Given the description of an element on the screen output the (x, y) to click on. 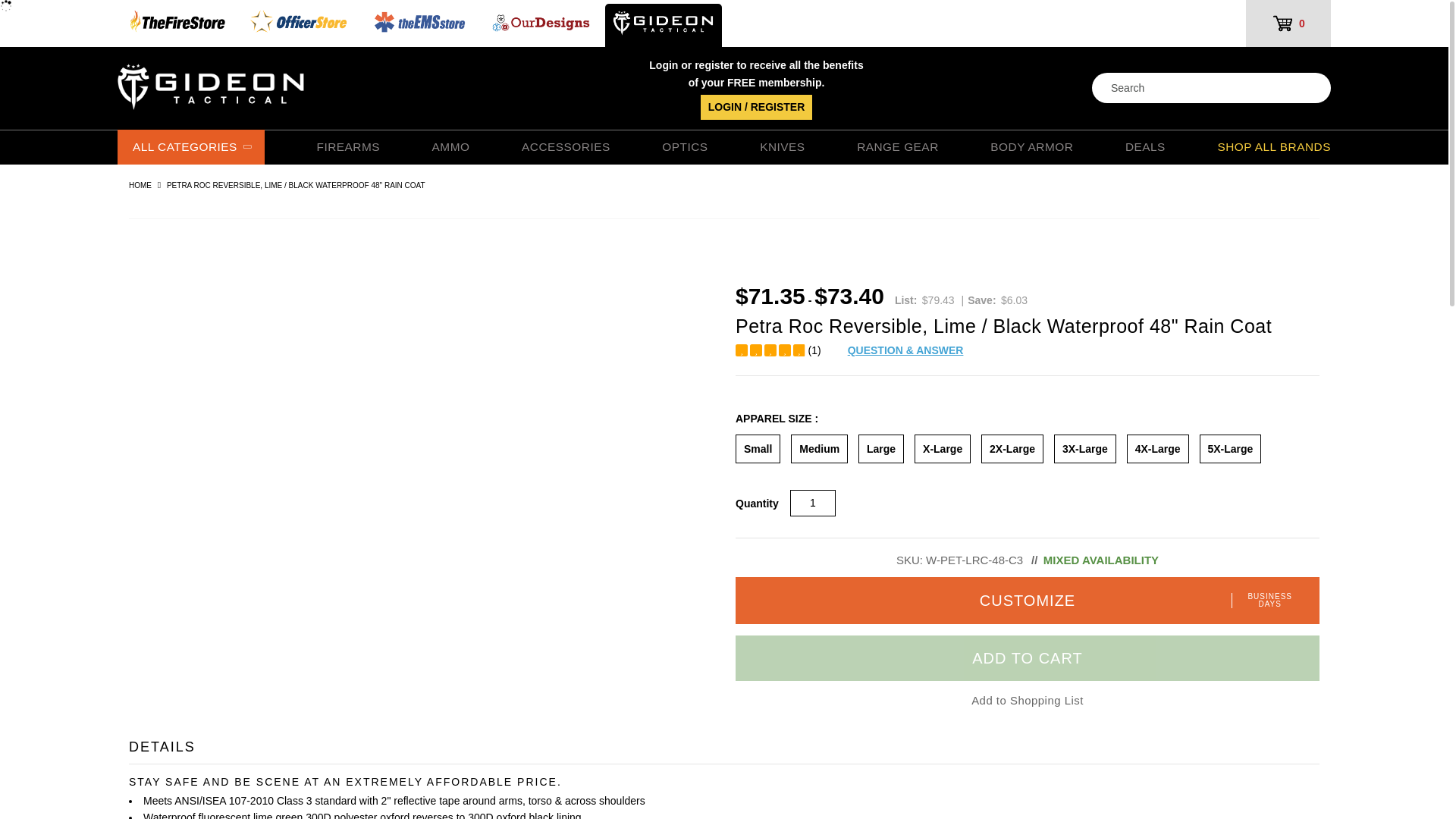
Witmer Public Safety Group (268, 76)
KNIVES (782, 148)
OPTICS (684, 148)
ALL CATEGORIES (190, 146)
TheEMSStore (420, 25)
GideonTactical (663, 25)
FIREARMS (348, 148)
TheFireStore (177, 25)
DEALS (1145, 148)
OfficerStore (299, 25)
